Given the description of an element on the screen output the (x, y) to click on. 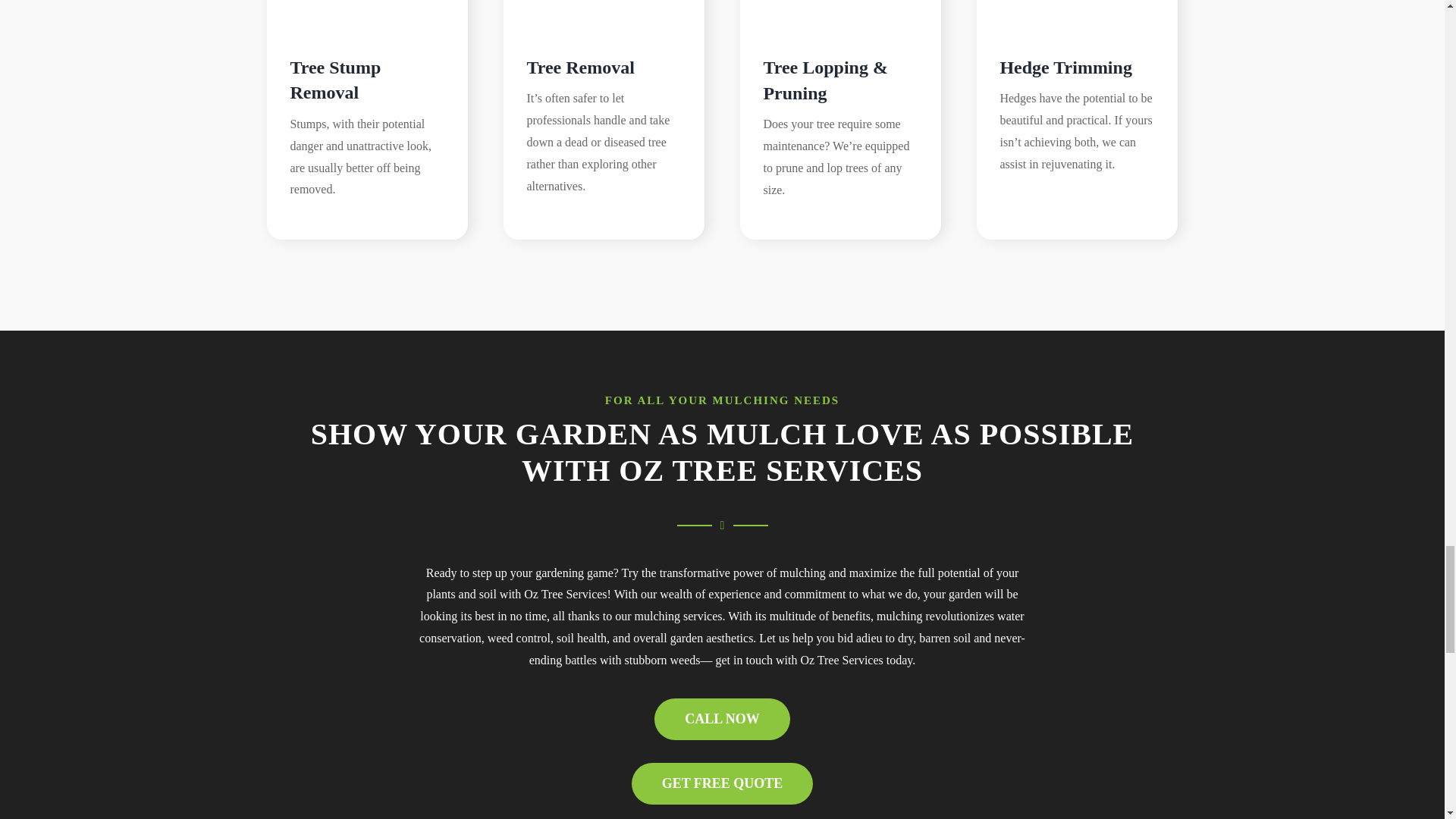
Hedge Trimming (1076, 12)
Tree Lopping and Pruning (839, 12)
Tree Stump Removal (366, 12)
Tree Removal (579, 66)
Tree Stump Removal (334, 80)
Tree Removal (603, 12)
